Given the description of an element on the screen output the (x, y) to click on. 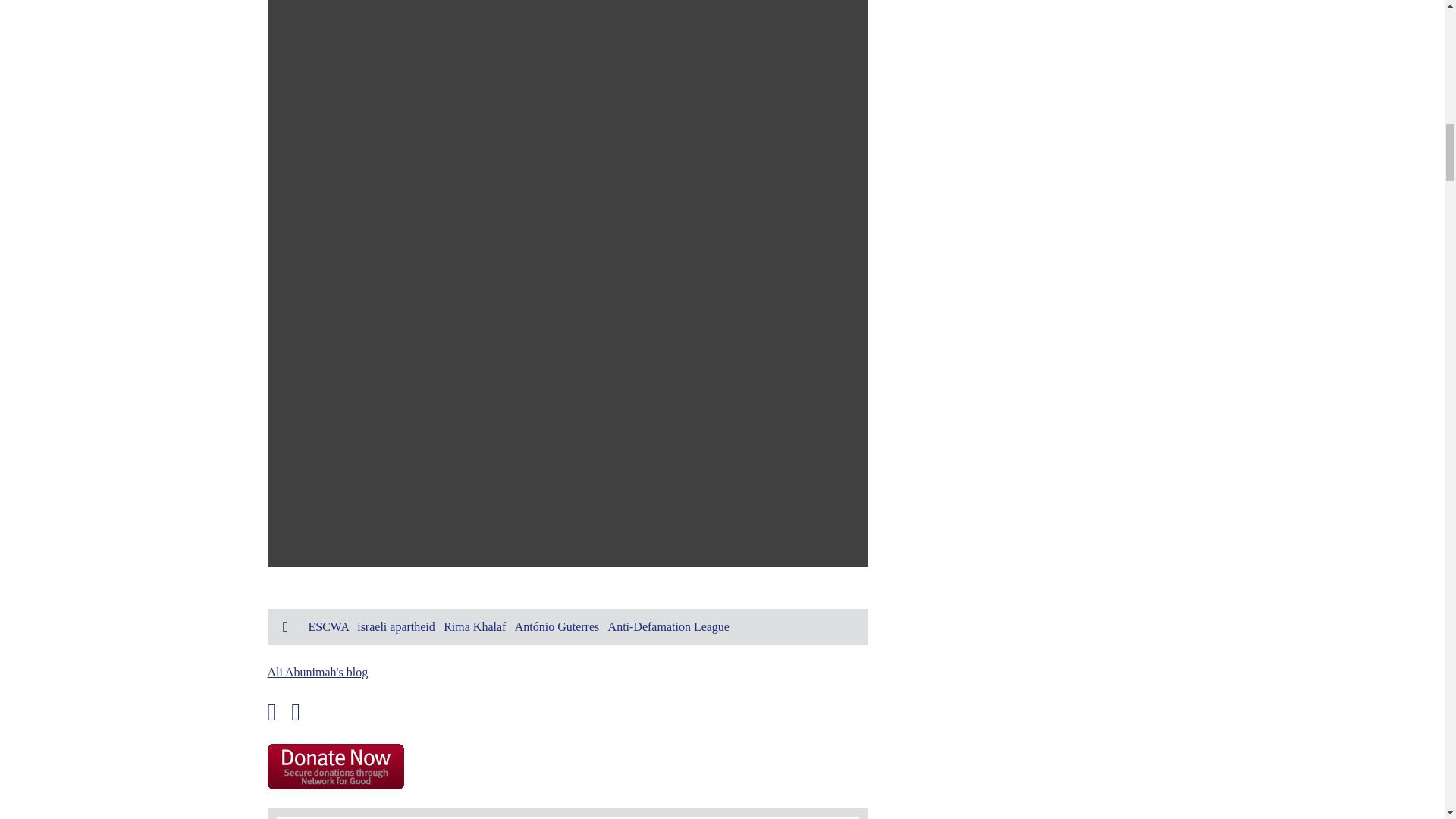
israeli apartheid (395, 626)
Read Ali Abunimah's latest blog entries. (317, 671)
ESCWA (327, 626)
Anti-Defamation League (668, 626)
Rima Khalaf (474, 626)
Ali Abunimah's blog (317, 671)
